Given the description of an element on the screen output the (x, y) to click on. 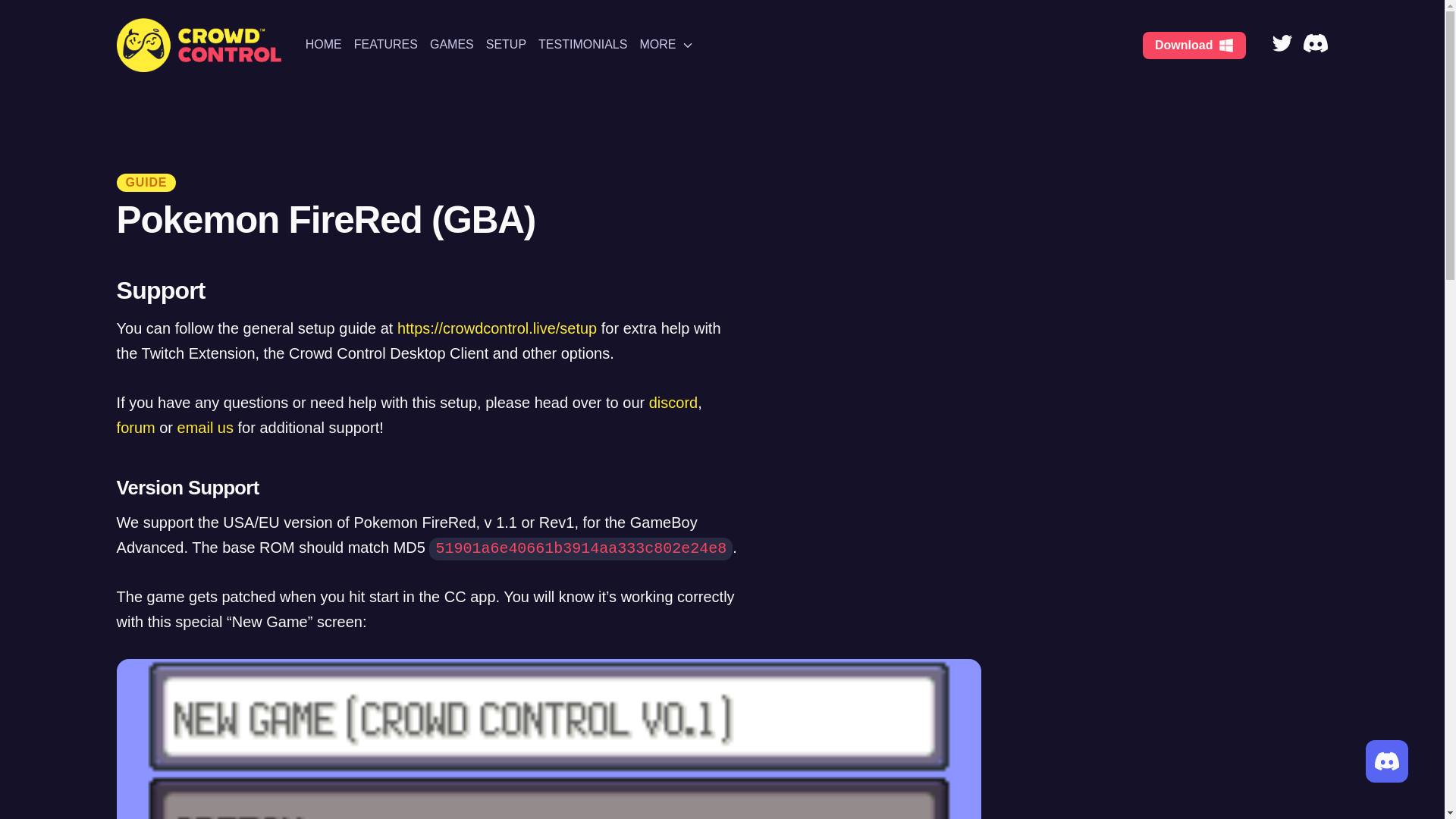
Twitter (1281, 44)
SETUP (505, 44)
Download (1194, 44)
Crowd Control (198, 45)
forum (135, 427)
HOME (323, 44)
TESTIMONIALS (582, 44)
MORE (666, 44)
FEATURES (385, 44)
discord (673, 402)
GAMES (451, 44)
email us (204, 427)
